Given the description of an element on the screen output the (x, y) to click on. 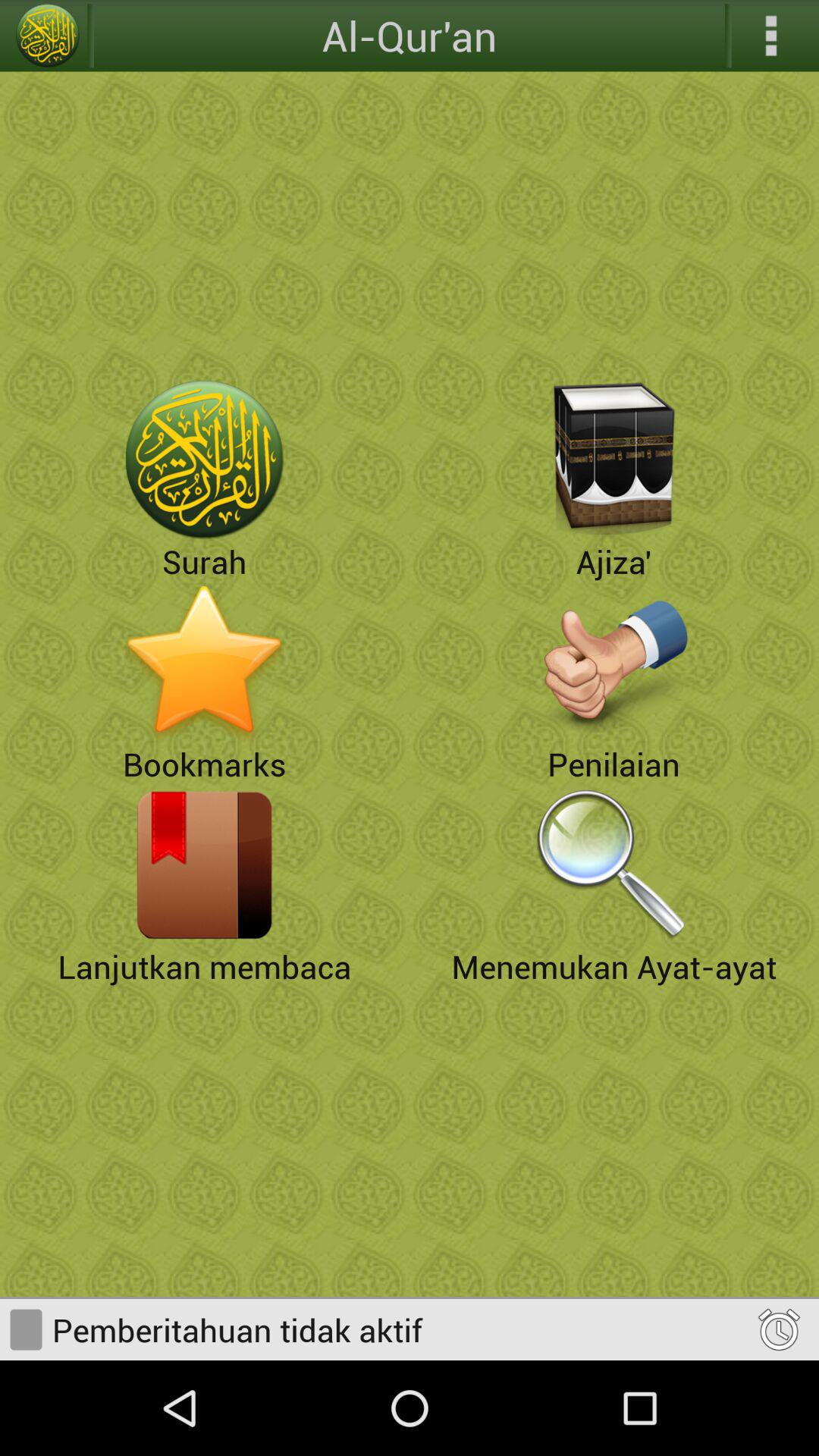
adverdisement (613, 662)
